Given the description of an element on the screen output the (x, y) to click on. 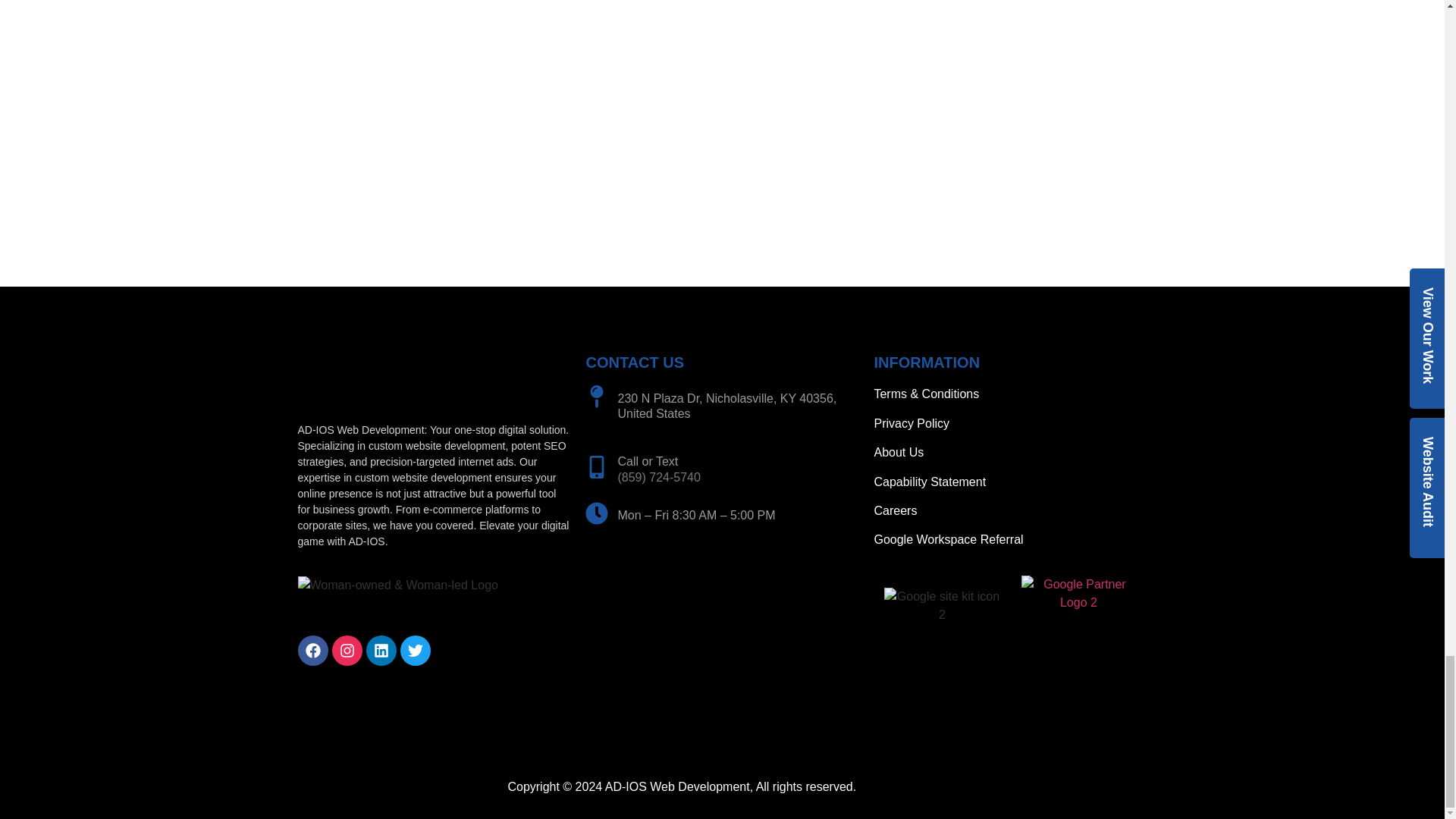
New-white-logo (360, 380)
